Given the description of an element on the screen output the (x, y) to click on. 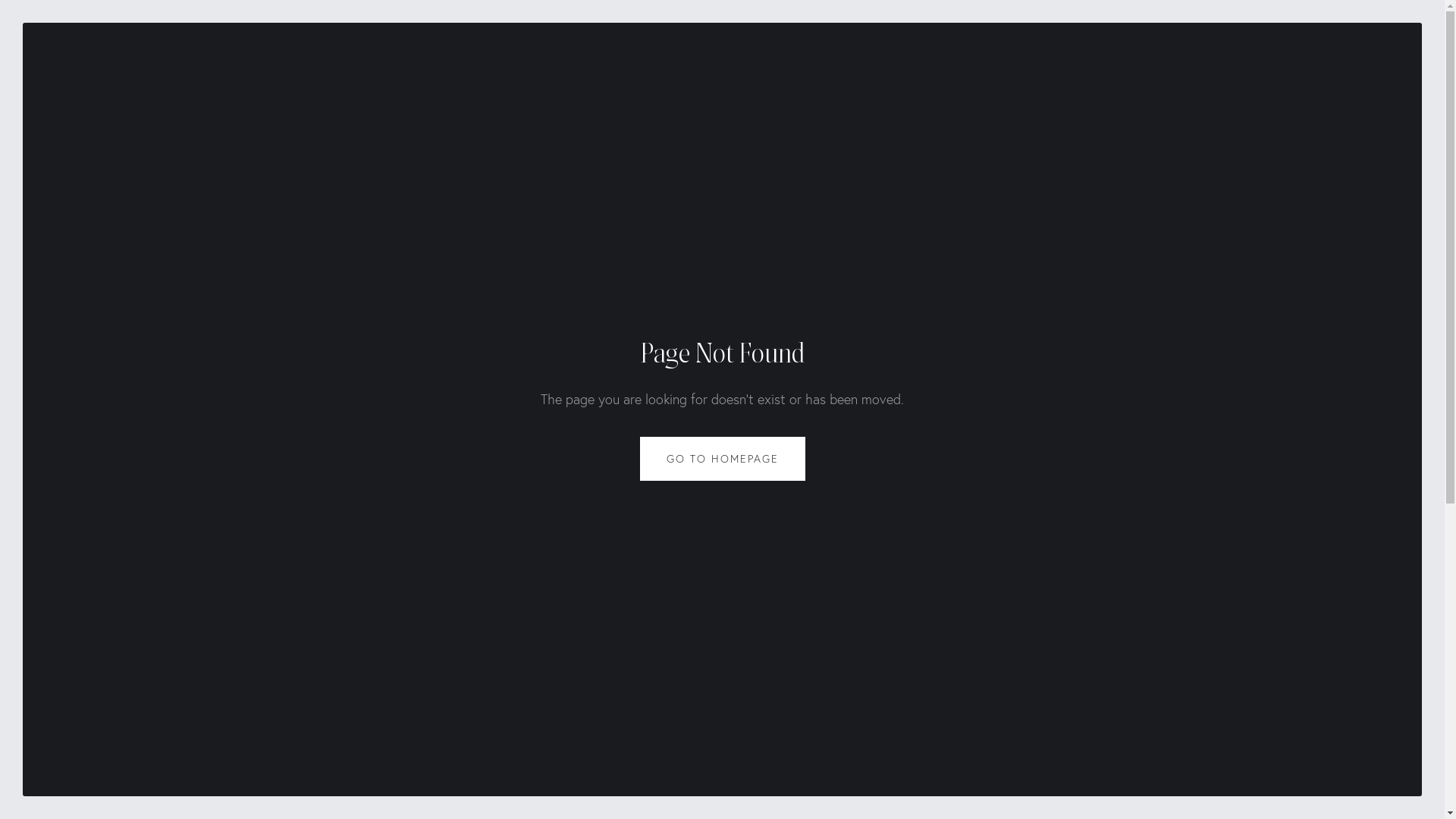
GO TO HOMEPAGE Element type: text (722, 458)
